Given the description of an element on the screen output the (x, y) to click on. 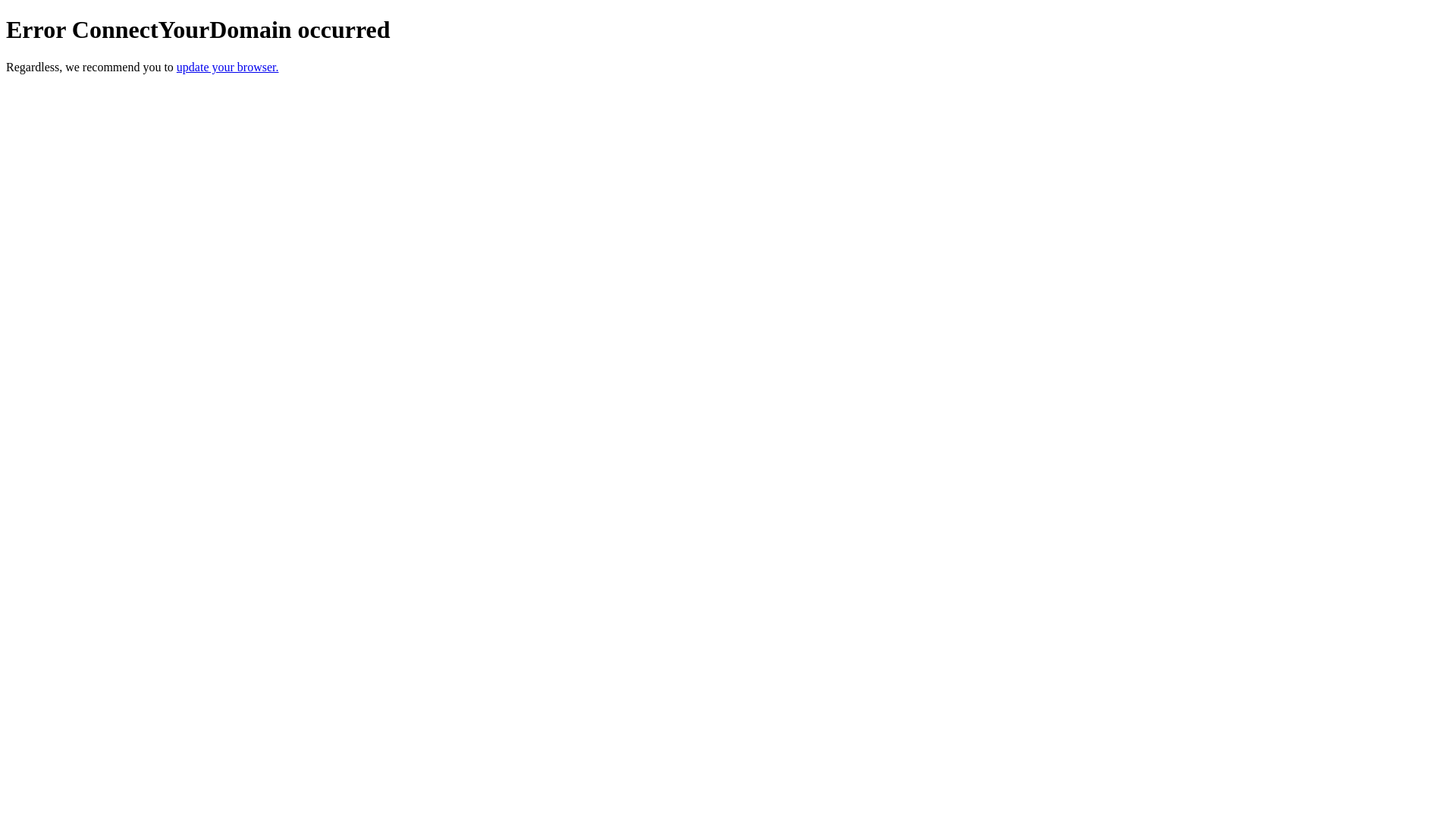
update your browser. Element type: text (227, 66)
